Given the description of an element on the screen output the (x, y) to click on. 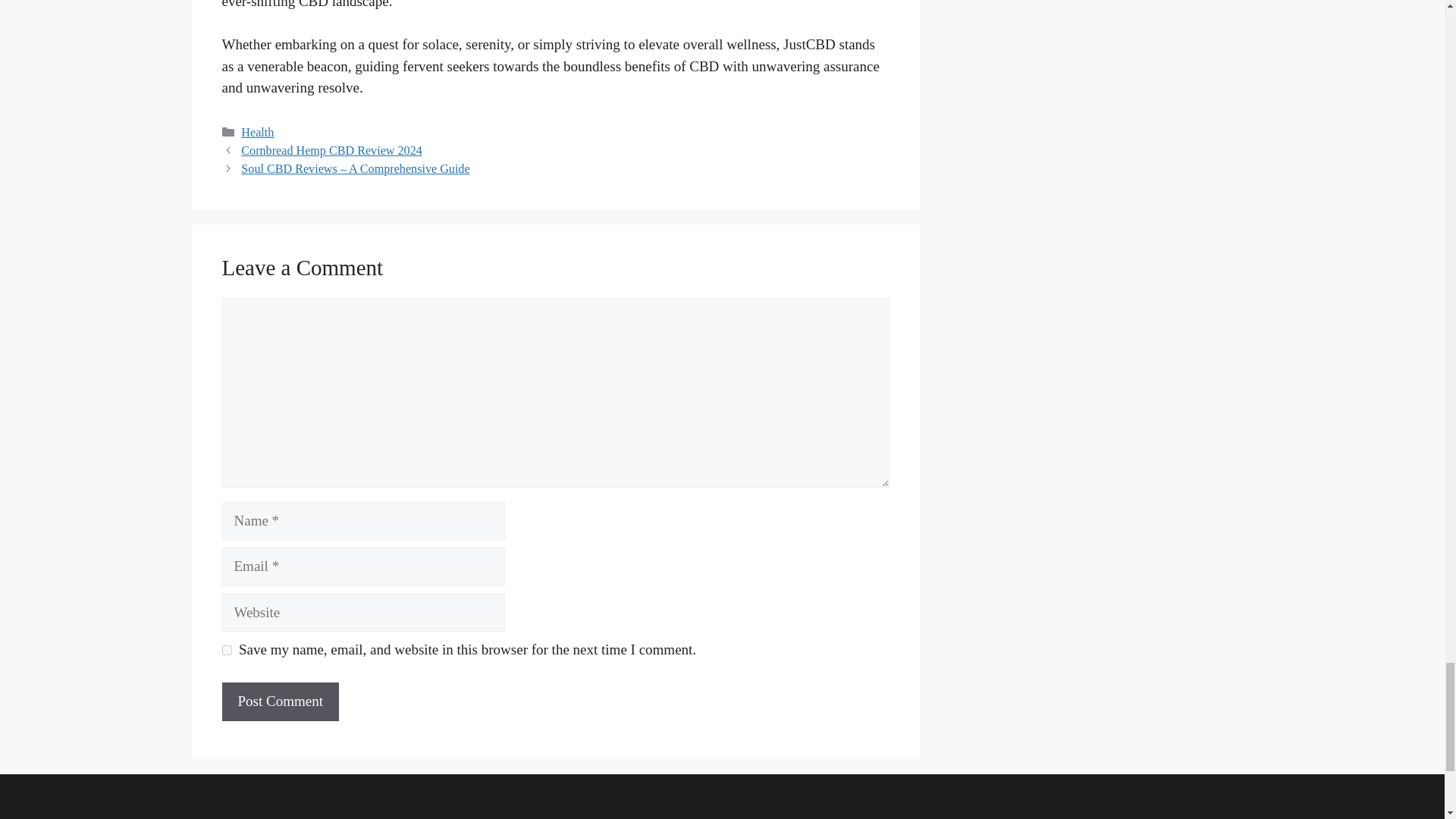
yes (226, 650)
Post Comment (279, 701)
Health (257, 132)
Cornbread Hemp CBD Review 2024 (331, 150)
Post Comment (279, 701)
